Given the description of an element on the screen output the (x, y) to click on. 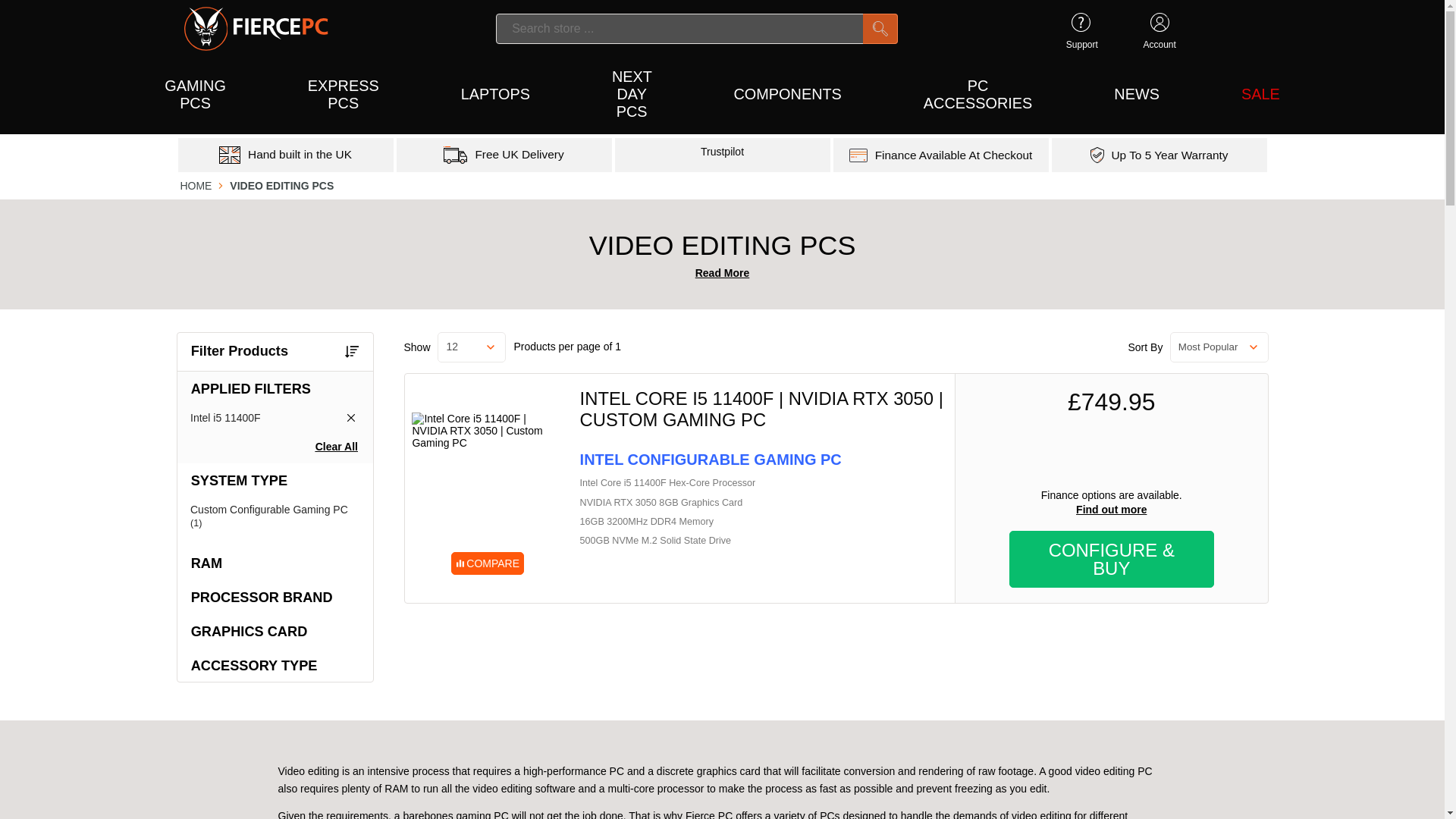
HOME (195, 185)
Hand built in the UK (299, 154)
NEWS (1136, 95)
GAMING PCS (194, 95)
LAPTOPS (495, 95)
Intel i5 11400F (274, 418)
Learn More (299, 154)
Trustpilot (722, 151)
Learn More (1170, 155)
NEXT DAY PCS (631, 95)
